Given the description of an element on the screen output the (x, y) to click on. 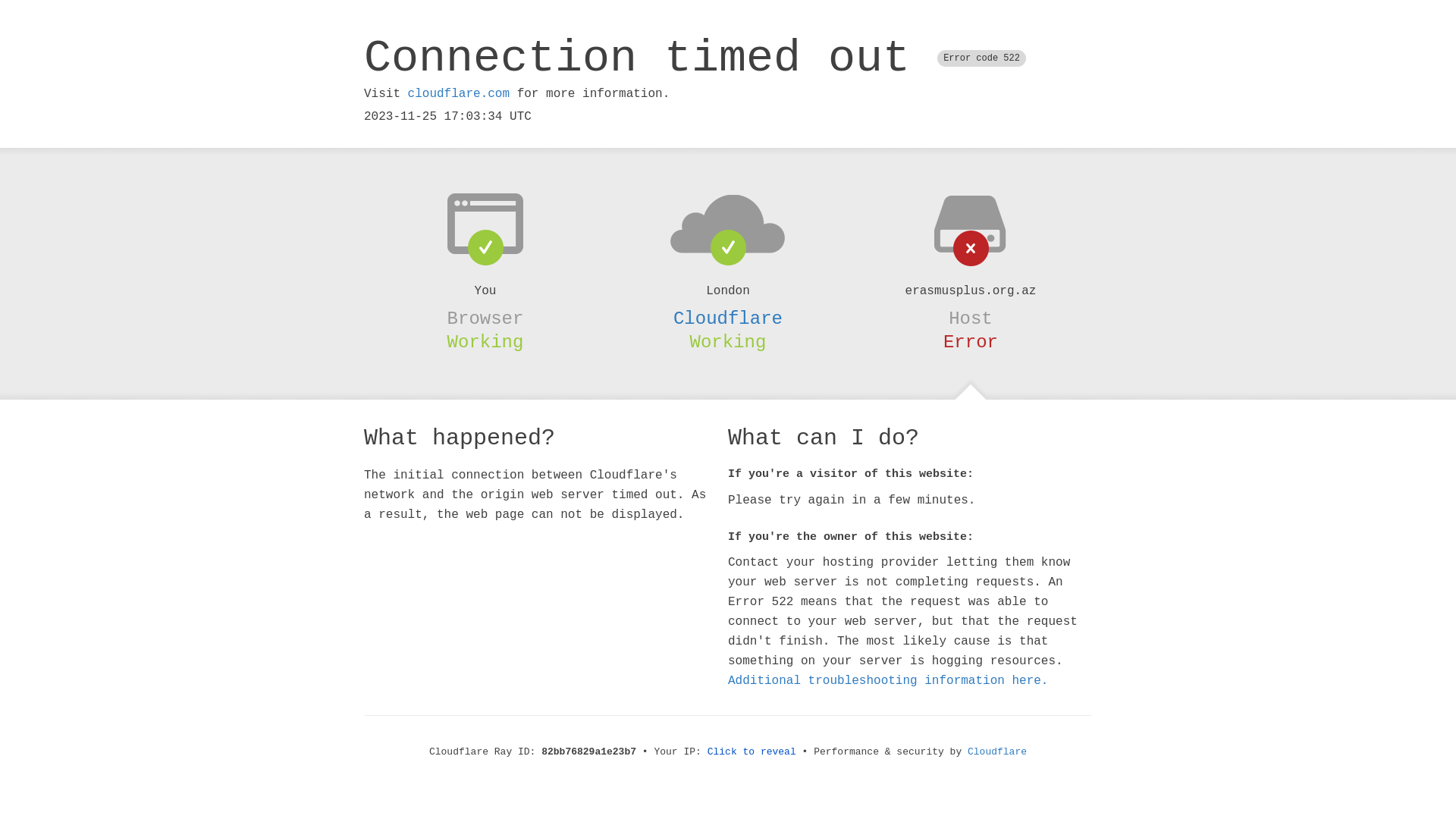
Additional troubleshooting information here. Element type: text (888, 680)
Click to reveal Element type: text (751, 751)
cloudflare.com Element type: text (458, 93)
Cloudflare Element type: text (727, 318)
Cloudflare Element type: text (996, 751)
